Given the description of an element on the screen output the (x, y) to click on. 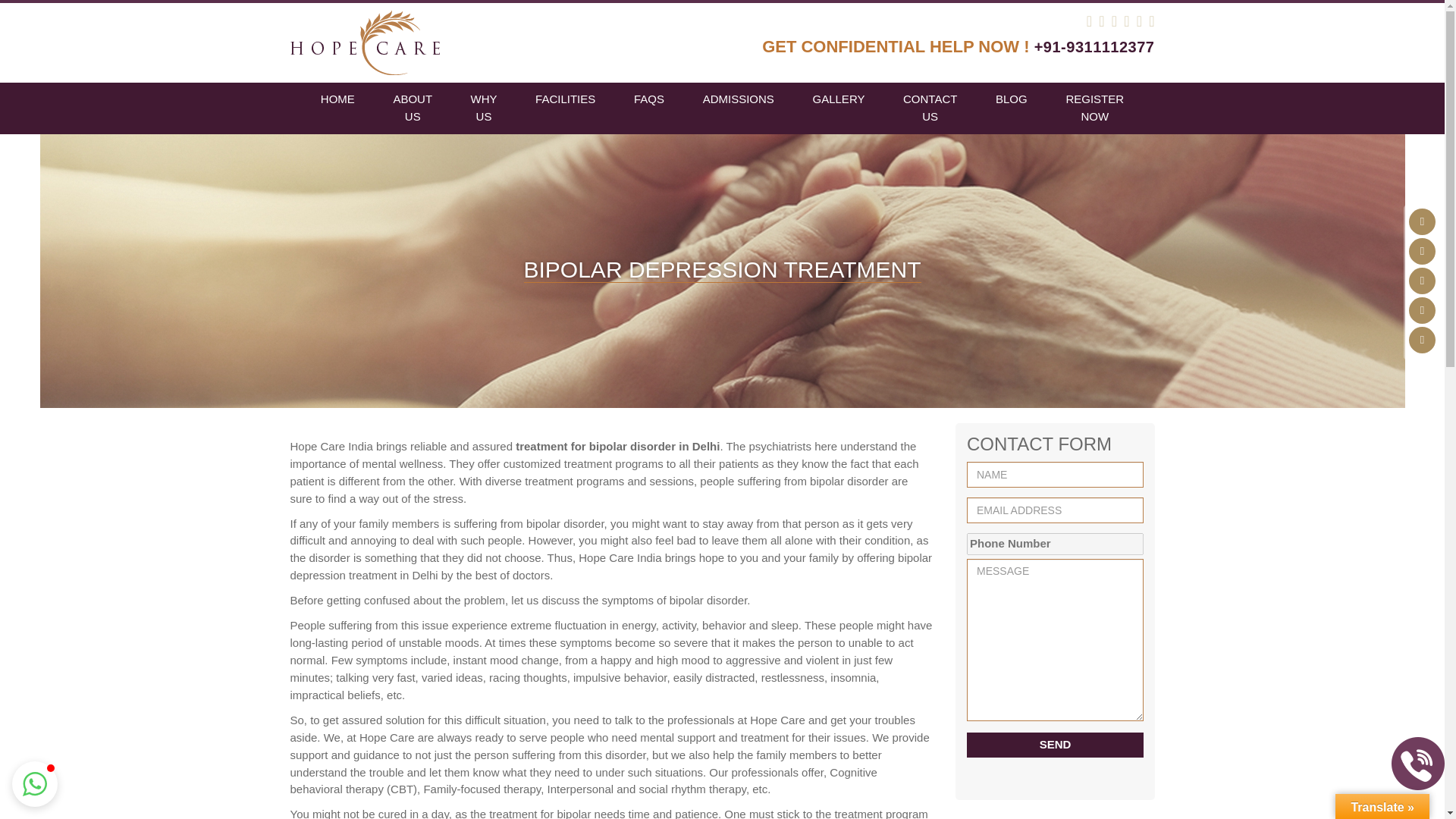
ABOUT US (412, 108)
Instagram (1422, 339)
facebook (1422, 251)
ADMISSIONS (737, 99)
WHY US (483, 108)
Why Us (483, 108)
GALLERY (838, 99)
Admissions (737, 99)
pinterest (1422, 280)
Youtube (1422, 310)
CONTACT US (929, 108)
FACILITIES (565, 99)
FAQs (649, 99)
Home (337, 99)
Send (1054, 744)
